Given the description of an element on the screen output the (x, y) to click on. 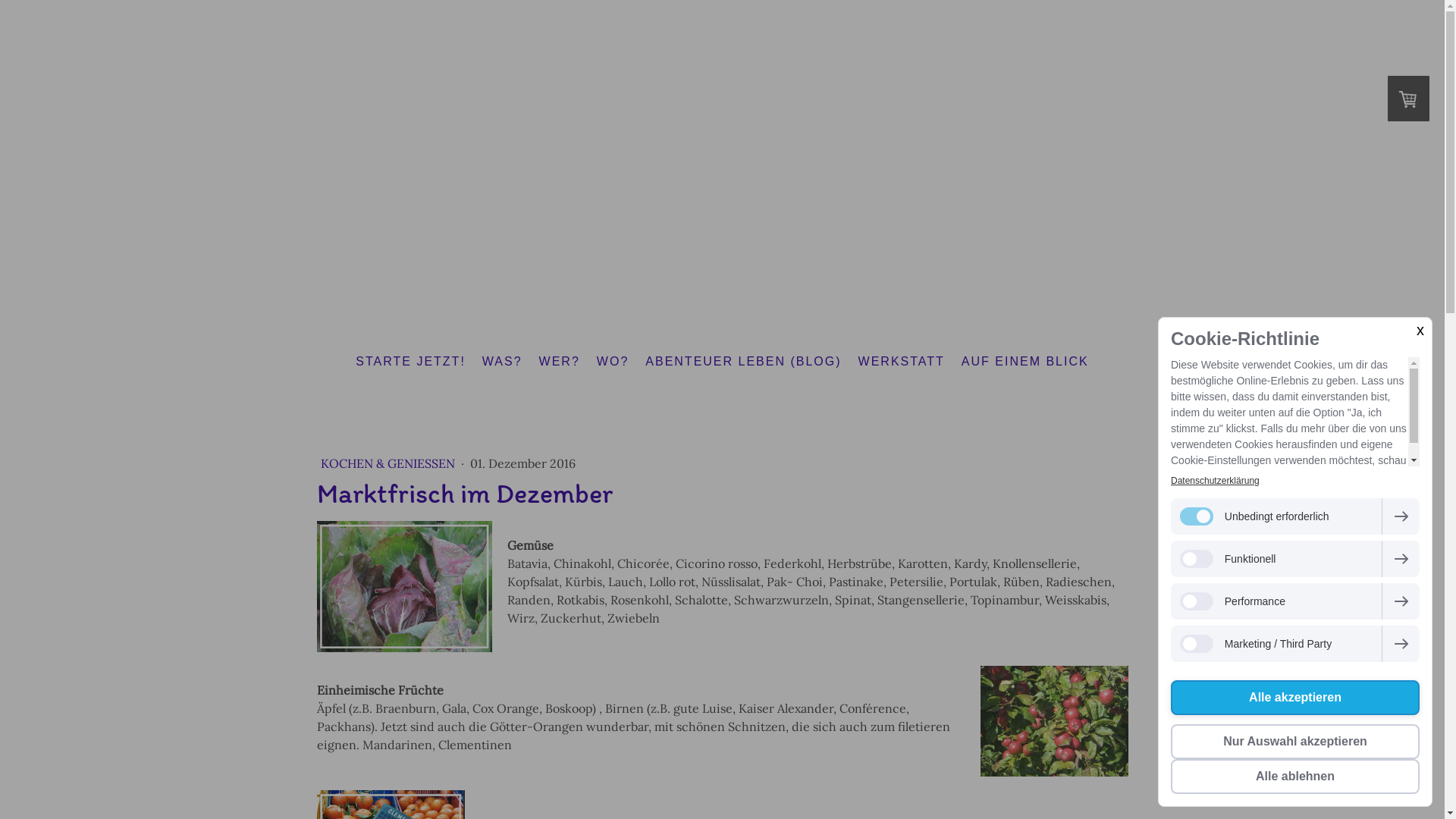
WERKSTATT Element type: text (901, 361)
AUF EINEM BLICK Element type: text (1025, 361)
Alle akzeptieren Element type: text (1294, 697)
ABENTEUER LEBEN (BLOG) Element type: text (743, 361)
WAS? Element type: text (501, 361)
STARTE JETZT! Element type: text (410, 361)
WO? Element type: text (612, 361)
Nur Auswahl akzeptieren Element type: text (1294, 741)
Alle ablehnen Element type: text (1294, 776)
WER? Element type: text (559, 361)
KOCHEN & GENIESSEN Element type: text (388, 462)
